Given the description of an element on the screen output the (x, y) to click on. 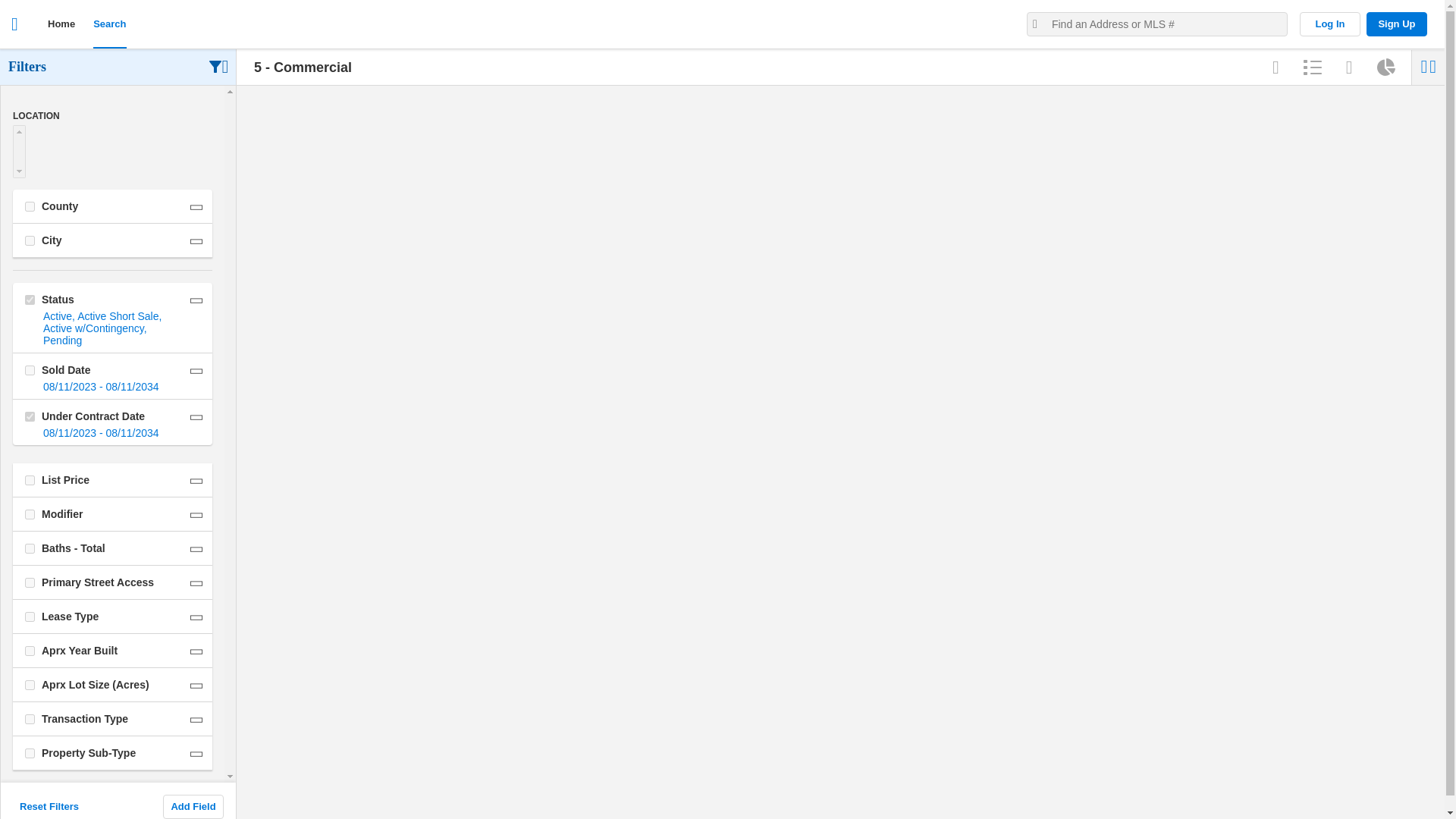
1 (29, 240)
1 (29, 480)
1 (29, 370)
5 - Commercial (538, 66)
1 (29, 616)
Log In (1329, 24)
1 (29, 583)
1 (29, 651)
1 (29, 685)
1 (29, 718)
